Given the description of an element on the screen output the (x, y) to click on. 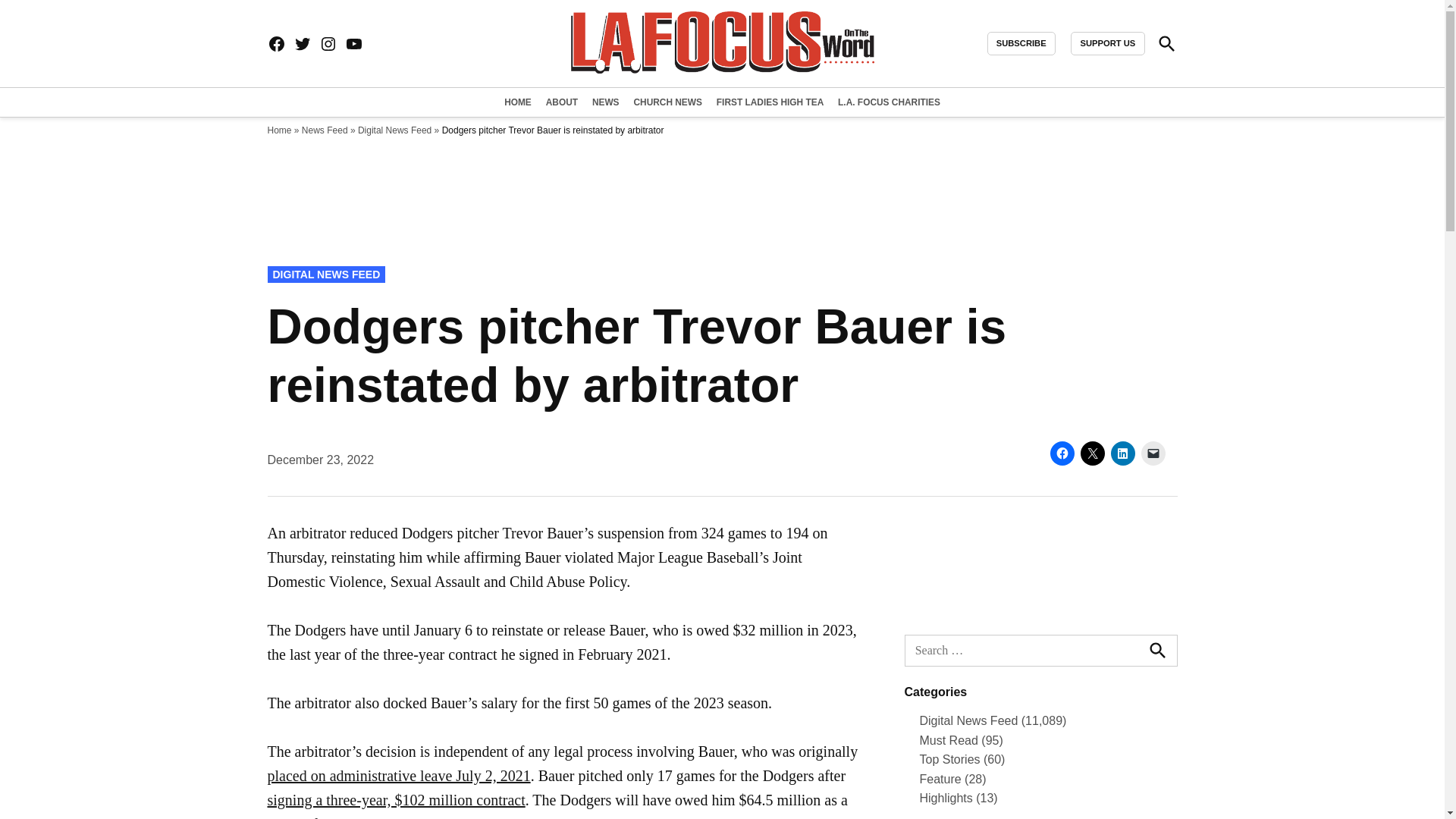
Click to share on X (1091, 453)
SUPPORT US (1107, 43)
CHURCH NEWS (667, 102)
Click to email a link to a friend (1152, 453)
Click to share on Facebook (1061, 453)
ABOUT (560, 102)
Click to share on LinkedIn (1121, 453)
FIRST LADIES HIGH TEA (770, 102)
HOME (519, 102)
YouTube (352, 44)
